Given the description of an element on the screen output the (x, y) to click on. 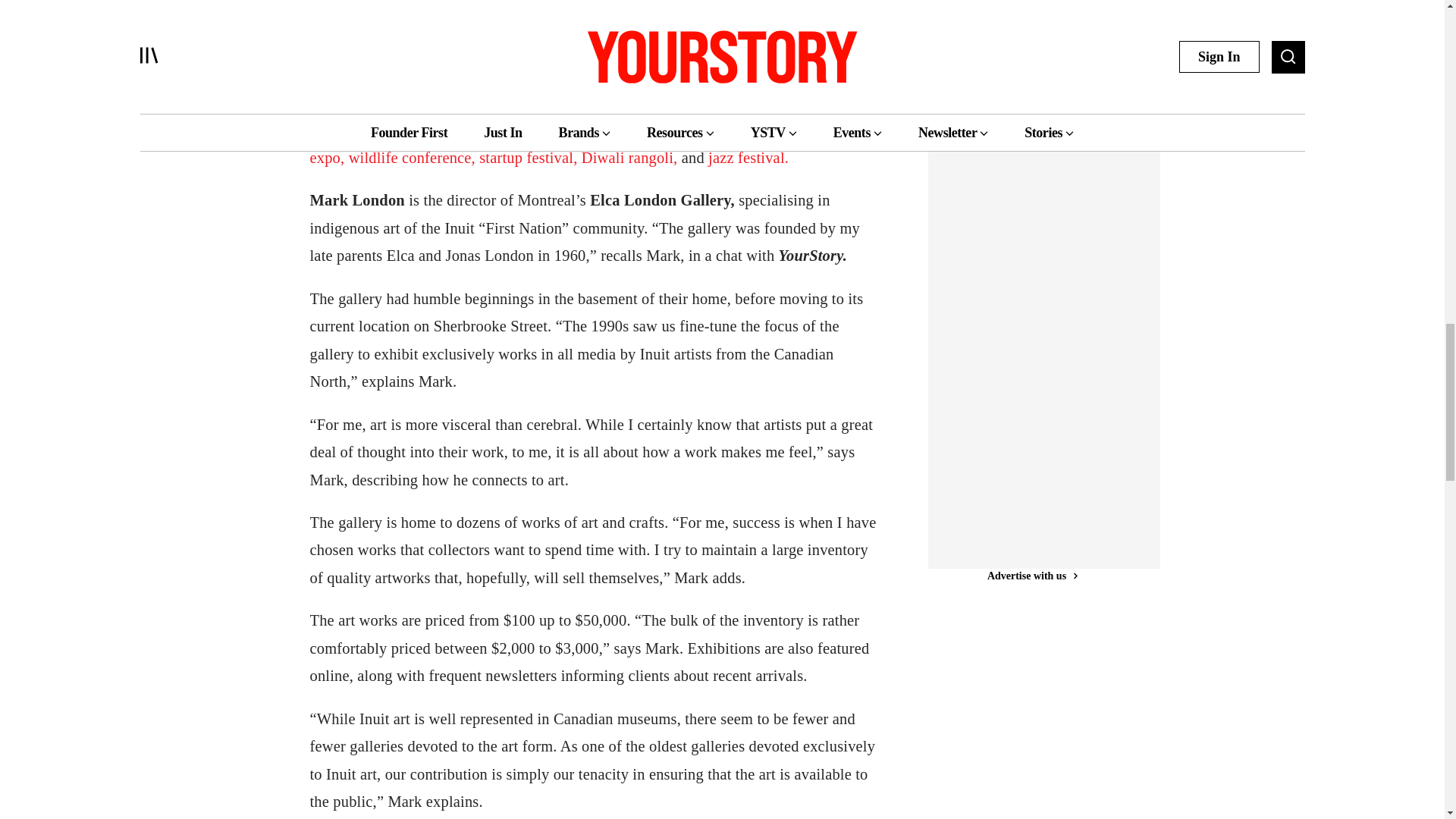
startup festival, (527, 157)
telecom expo (646, 129)
cartoon gallery. (414, 129)
wildlife conference, (412, 157)
PhotoSparks (352, 74)
millets fair, (733, 129)
climate change expo, (588, 143)
jazz festival. (748, 157)
world music festival (531, 129)
Diwali rangoli, (629, 157)
